Given the description of an element on the screen output the (x, y) to click on. 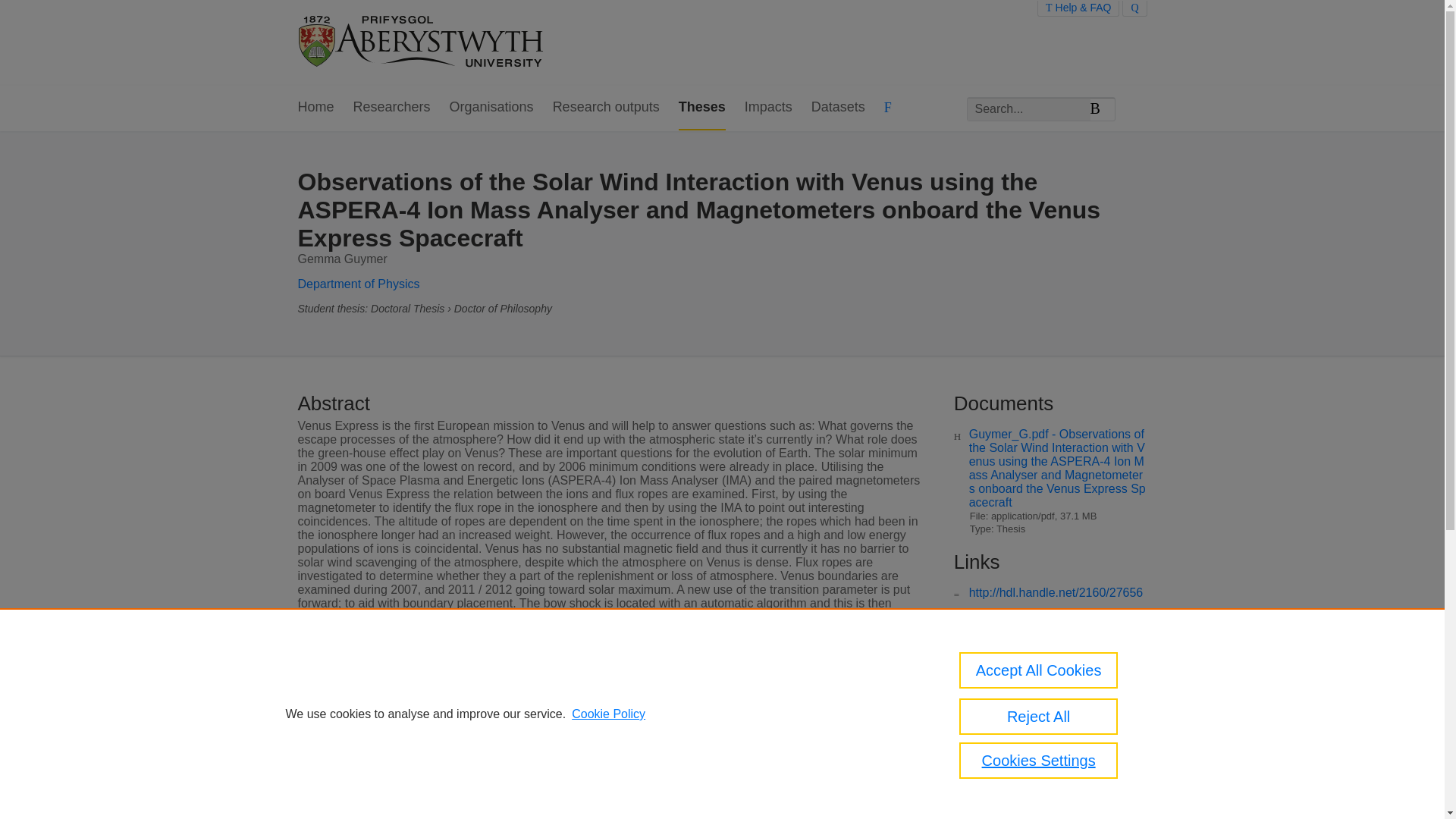
Organisations (491, 107)
Aberystwyth Research Portal Home (422, 42)
Researchers (391, 107)
Theses (701, 107)
Research outputs (606, 107)
Department of Physics (358, 283)
Post Launch Support: ASPERA4 instrument on Venus Express (1056, 705)
Solar System Physics and Exploration (1039, 736)
Datasets (837, 107)
